Given the description of an element on the screen output the (x, y) to click on. 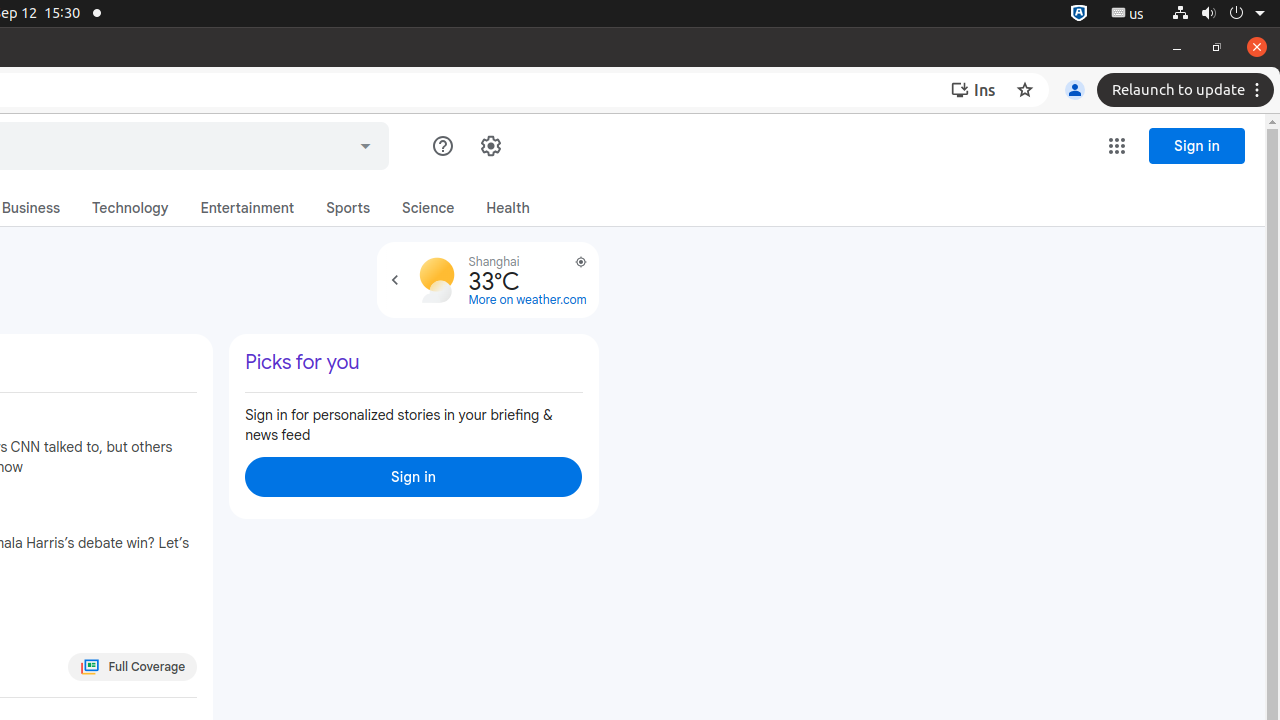
Use precise location Element type: push-button (570, 270)
Settings Element type: push-button (490, 146)
Install Google News Element type: push-button (978, 90)
Technology Element type: menu-item (130, 208)
More - The debate didn’t sway some voters CNN talked to, but others know exactly who they’re backing now Element type: push-button (191, 426)
